Given the description of an element on the screen output the (x, y) to click on. 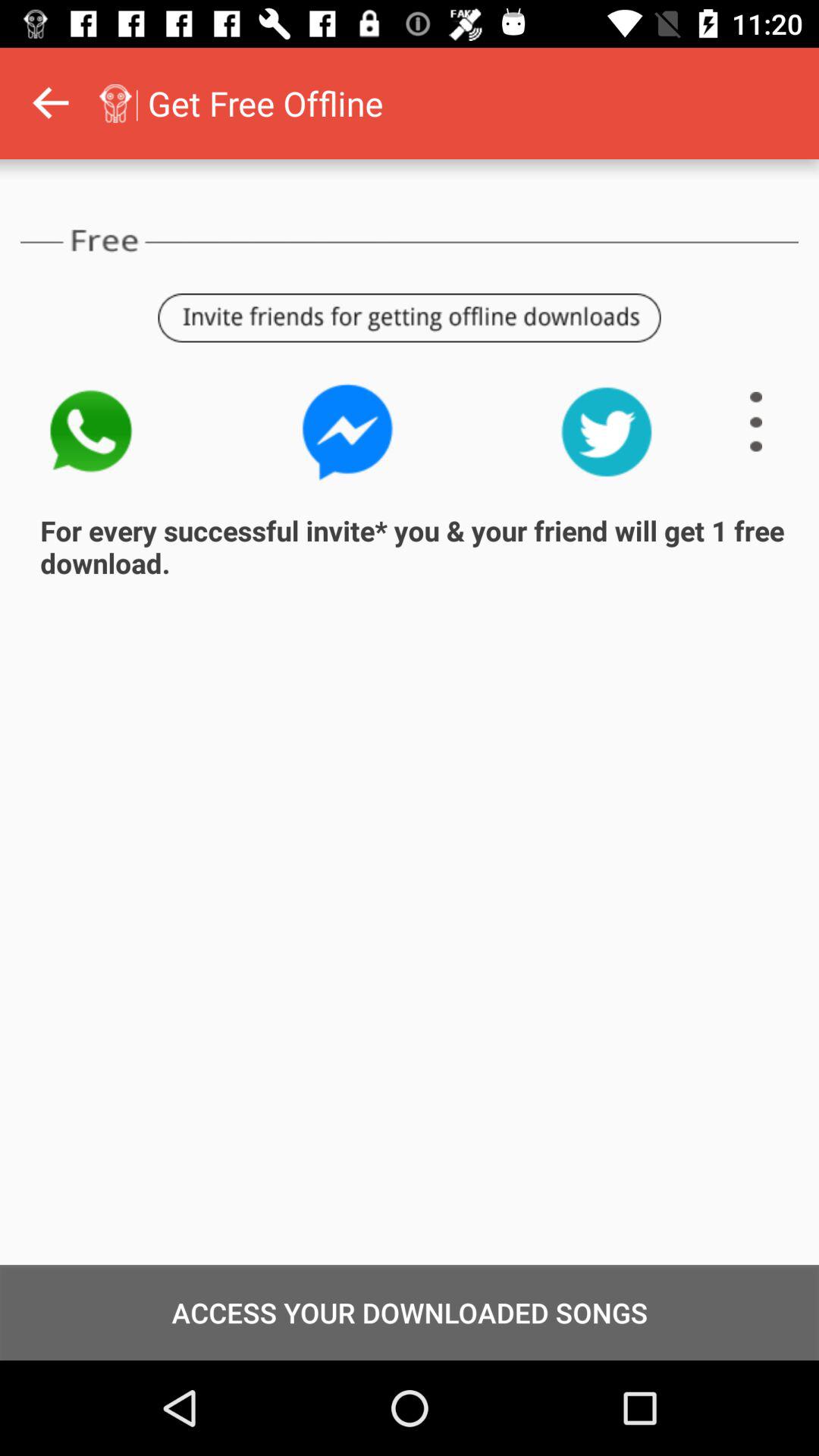
flip until the access your downloaded icon (409, 1312)
